Given the description of an element on the screen output the (x, y) to click on. 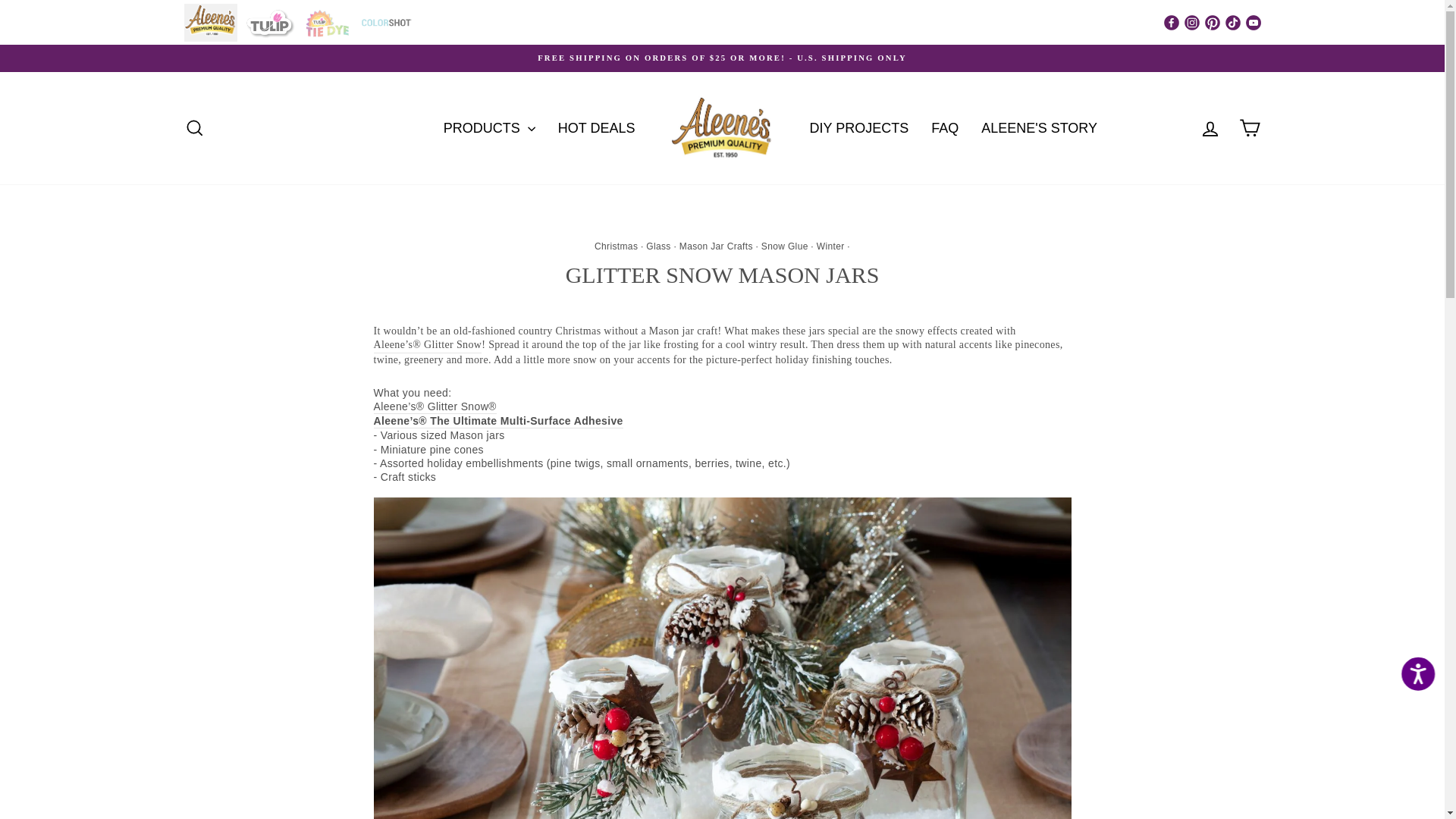
ACCOUNT (1210, 128)
ICON-SEARCH (194, 127)
Opens a widget where you can find more information (1386, 792)
